Given the description of an element on the screen output the (x, y) to click on. 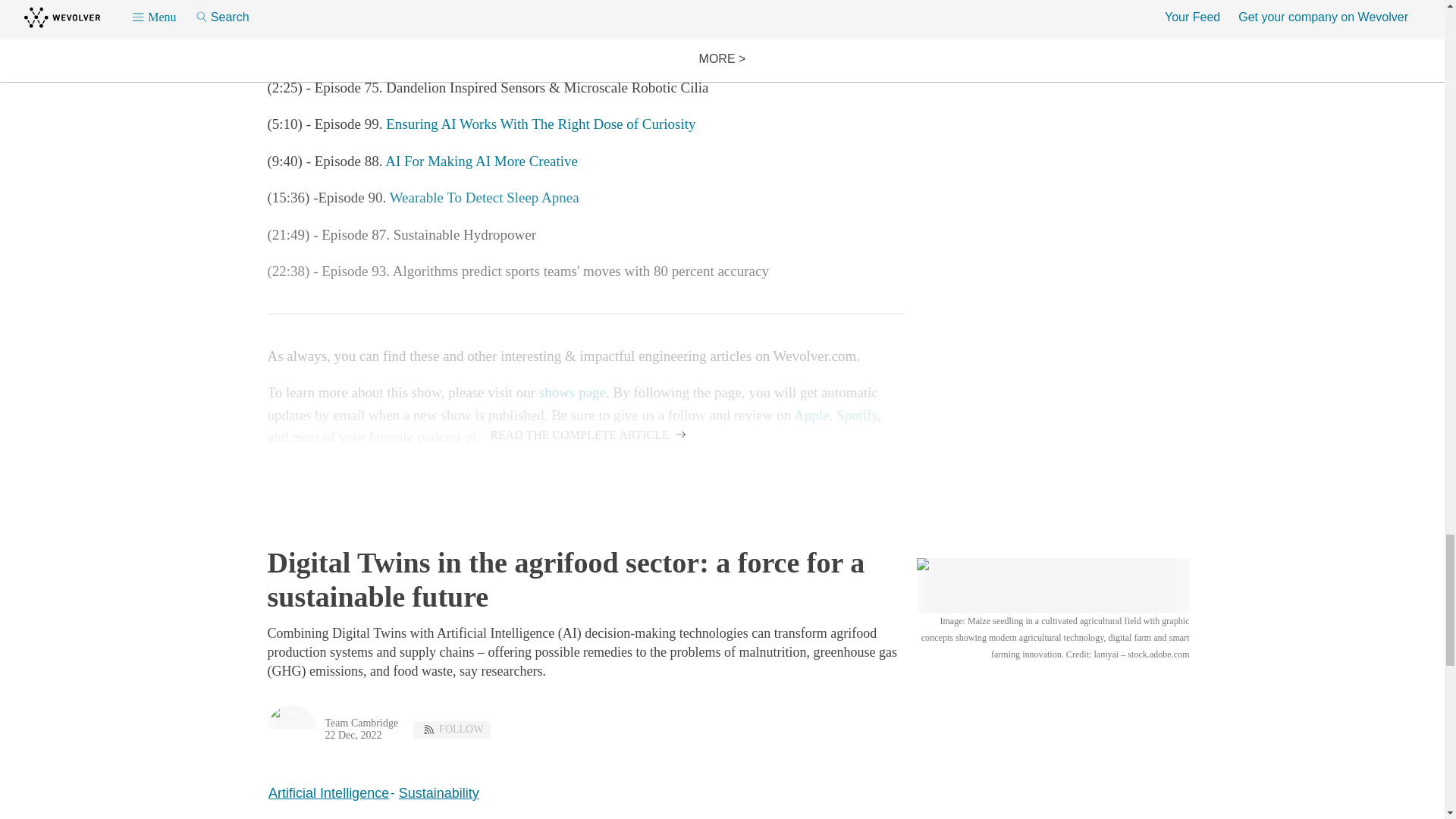
Ensuring AI Works With The Right Dose of Curiosity (540, 123)
AI For Making AI More Creative (481, 160)
